Given the description of an element on the screen output the (x, y) to click on. 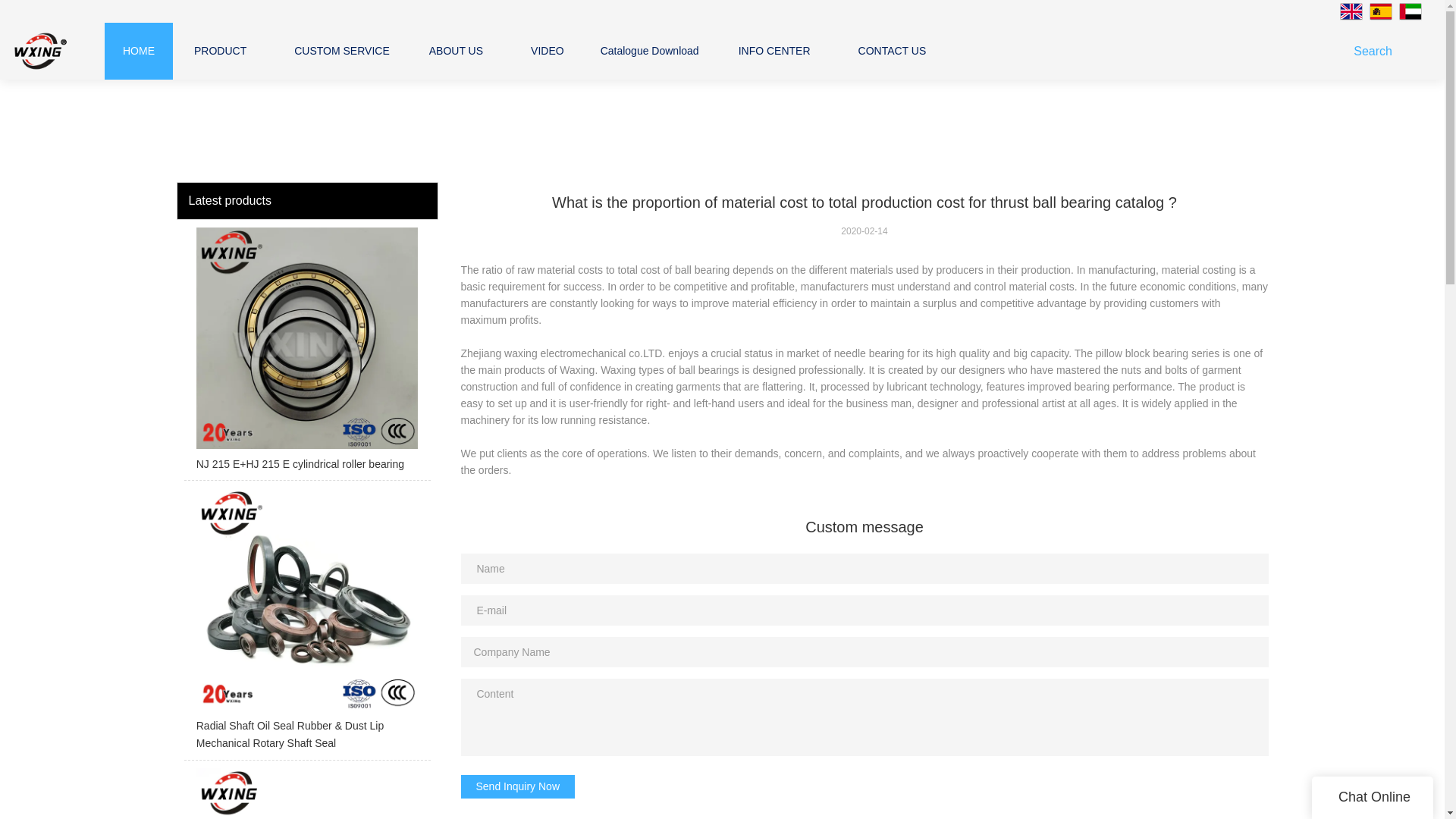
CUSTOM SERVICE (342, 50)
CONTACT US (892, 50)
Catalogue Download (648, 50)
Search   (1375, 50)
PRODUCT (219, 50)
ABOUT US (456, 50)
English (1350, 11)
Send Inquiry Now (518, 786)
INFO CENTER (774, 50)
VIDEO (547, 50)
HOME (138, 50)
